Given the description of an element on the screen output the (x, y) to click on. 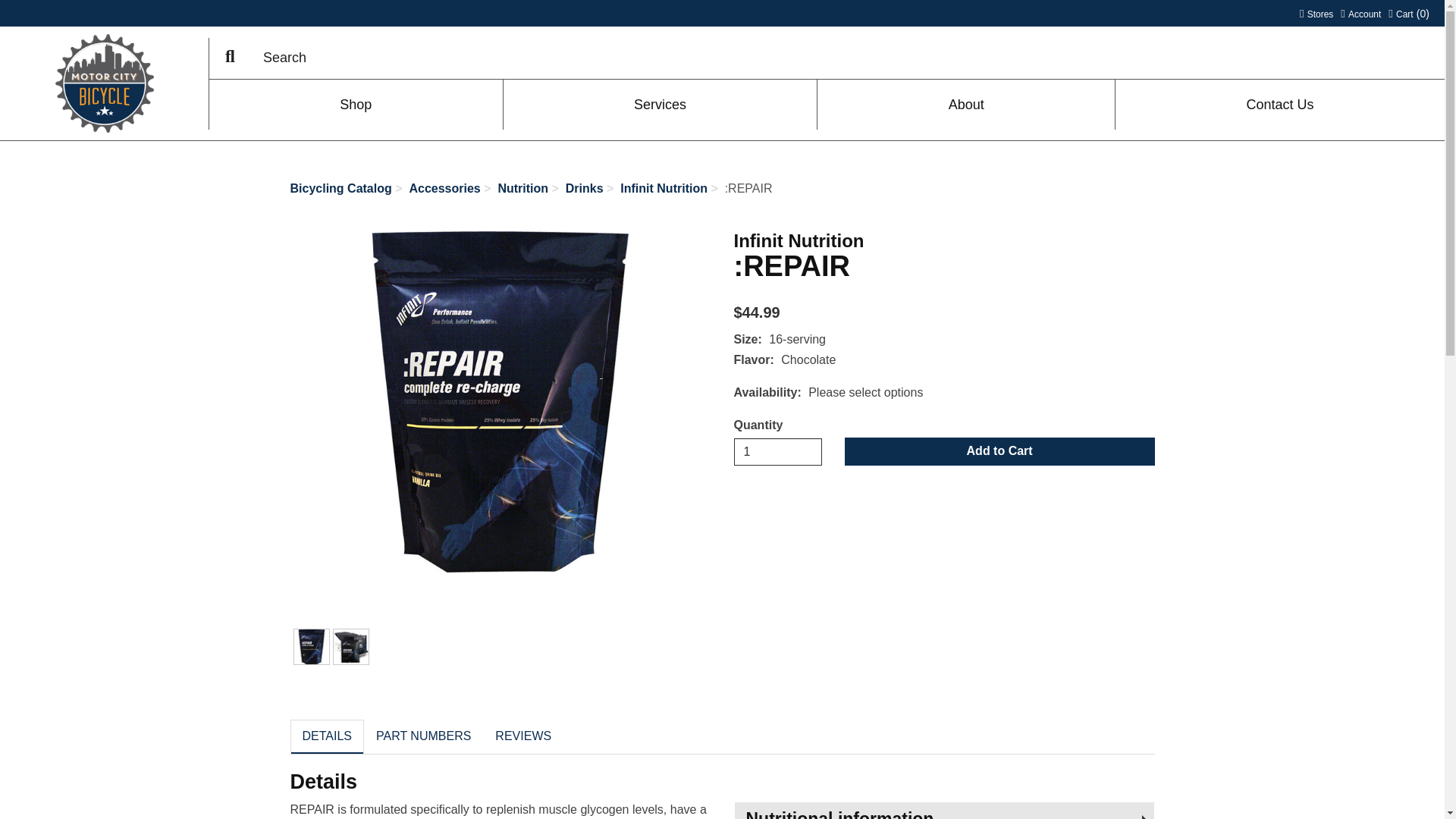
Stores (1316, 12)
Cart (1409, 12)
Shop (356, 103)
1 (1360, 12)
Account (777, 452)
Search (1360, 12)
Motor City Bicycle Home Page (229, 58)
